Given the description of an element on the screen output the (x, y) to click on. 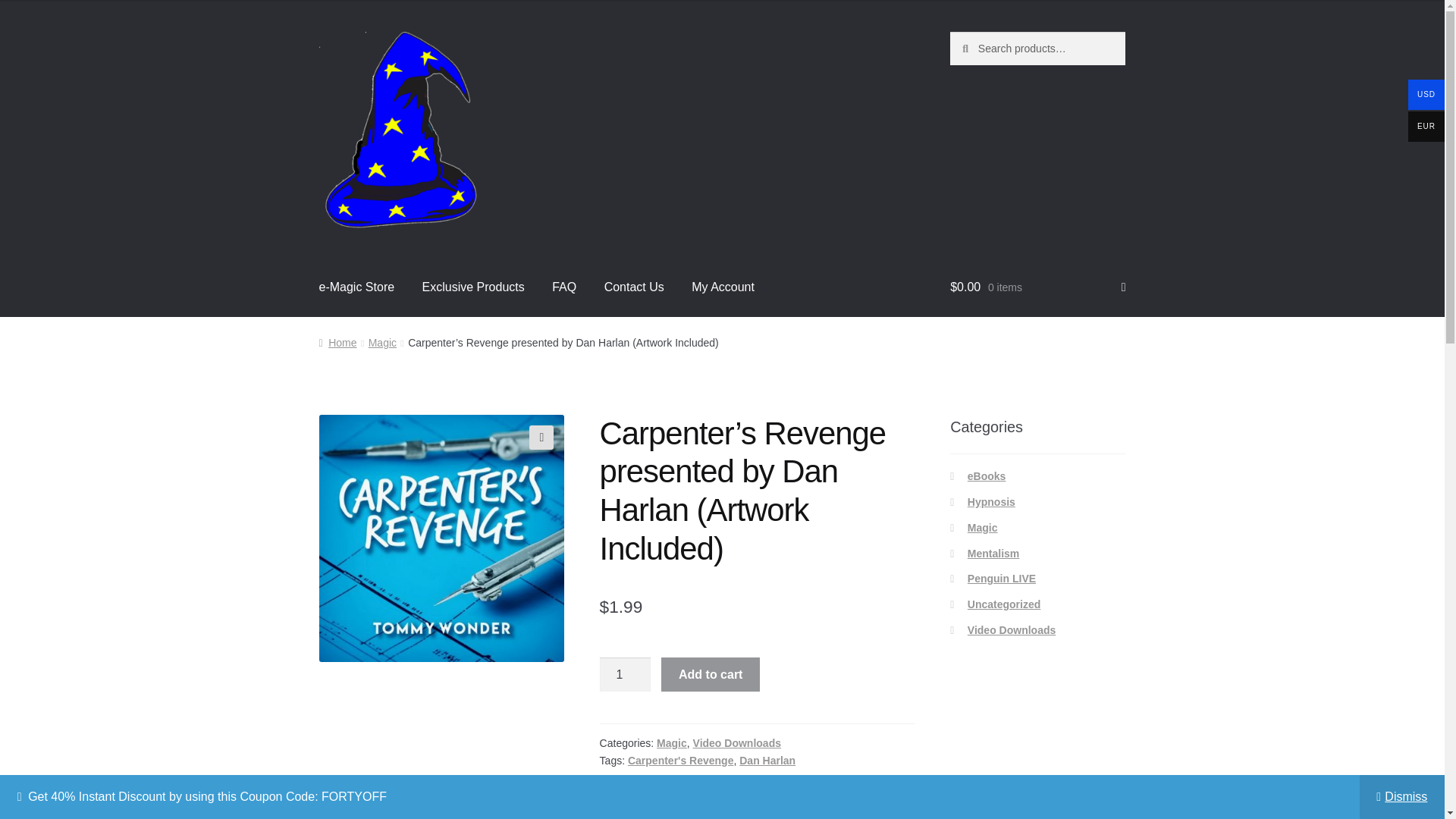
Home (337, 342)
Hypnosis (991, 501)
Carpenter's Revenge (680, 760)
Magic (382, 342)
Dan Harlan (766, 760)
e-Magic Store (357, 286)
Magic (671, 743)
1 (624, 674)
Uncategorized (1004, 604)
